Given the description of an element on the screen output the (x, y) to click on. 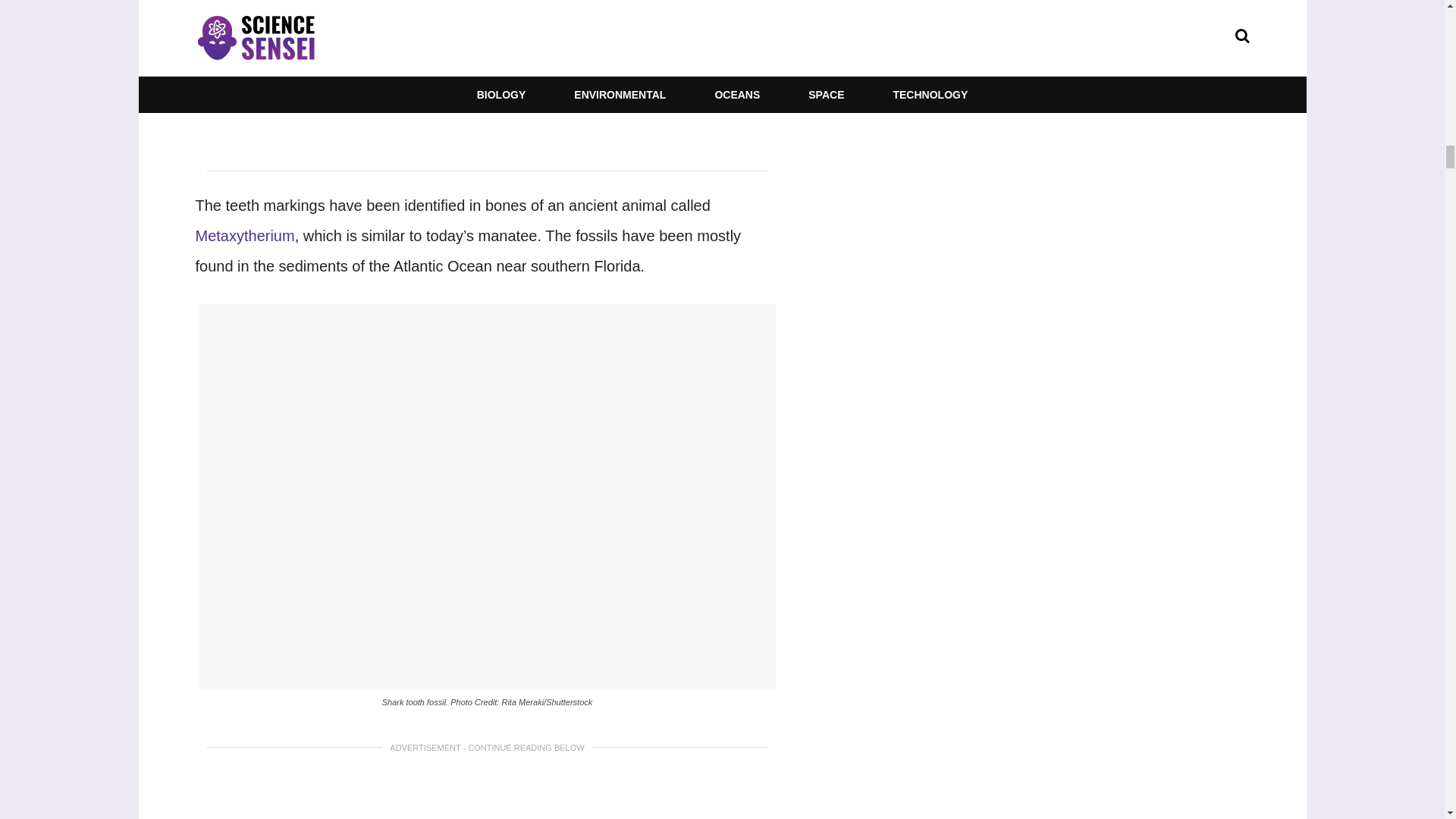
Metaxytherium (245, 235)
